Given the description of an element on the screen output the (x, y) to click on. 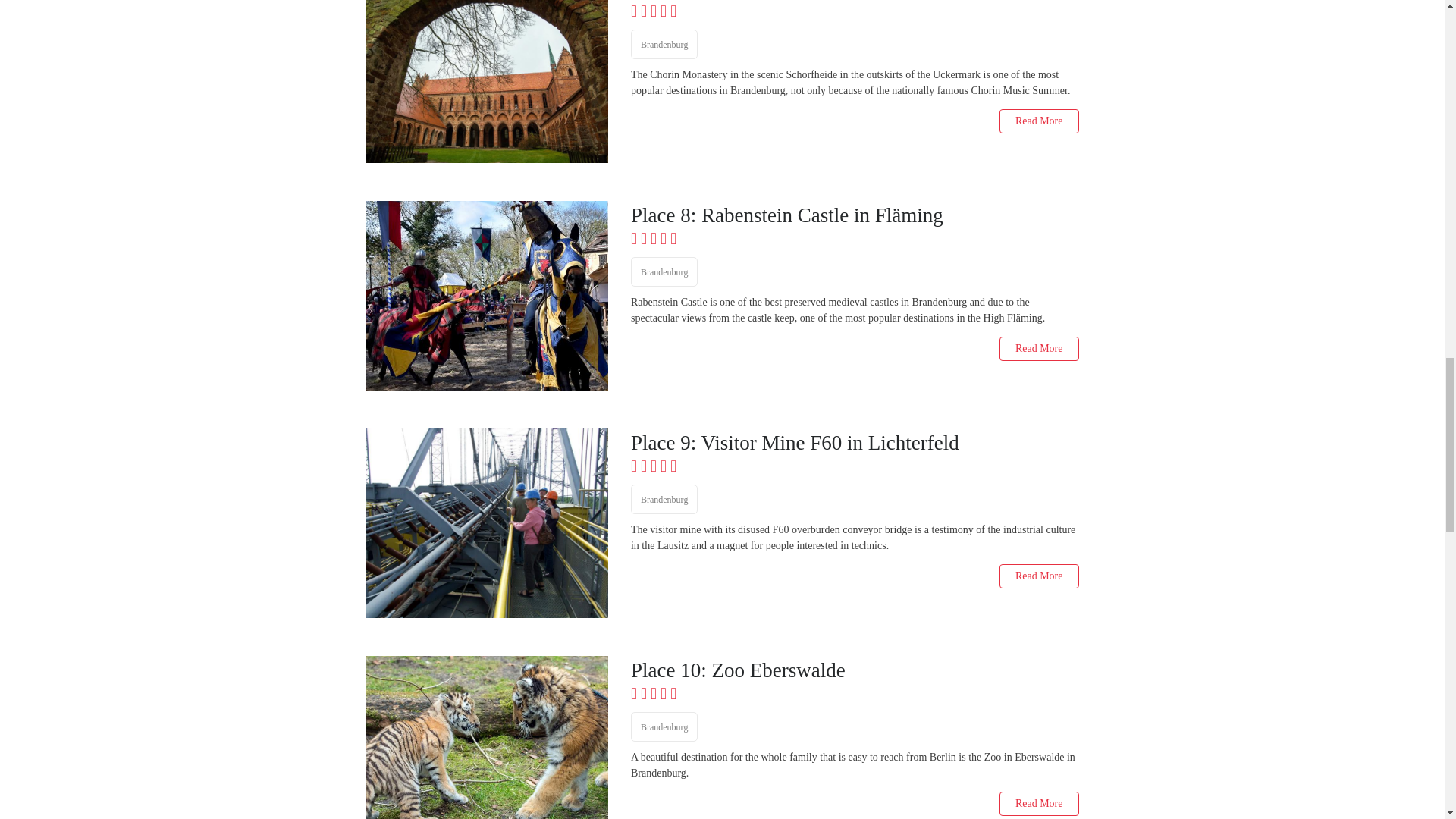
Brandenburg (663, 43)
Read More (1038, 348)
Brandenburg (663, 271)
Place 9: Visitor Mine F60 in Lichterfeld (853, 442)
Read More (1038, 120)
